Given the description of an element on the screen output the (x, y) to click on. 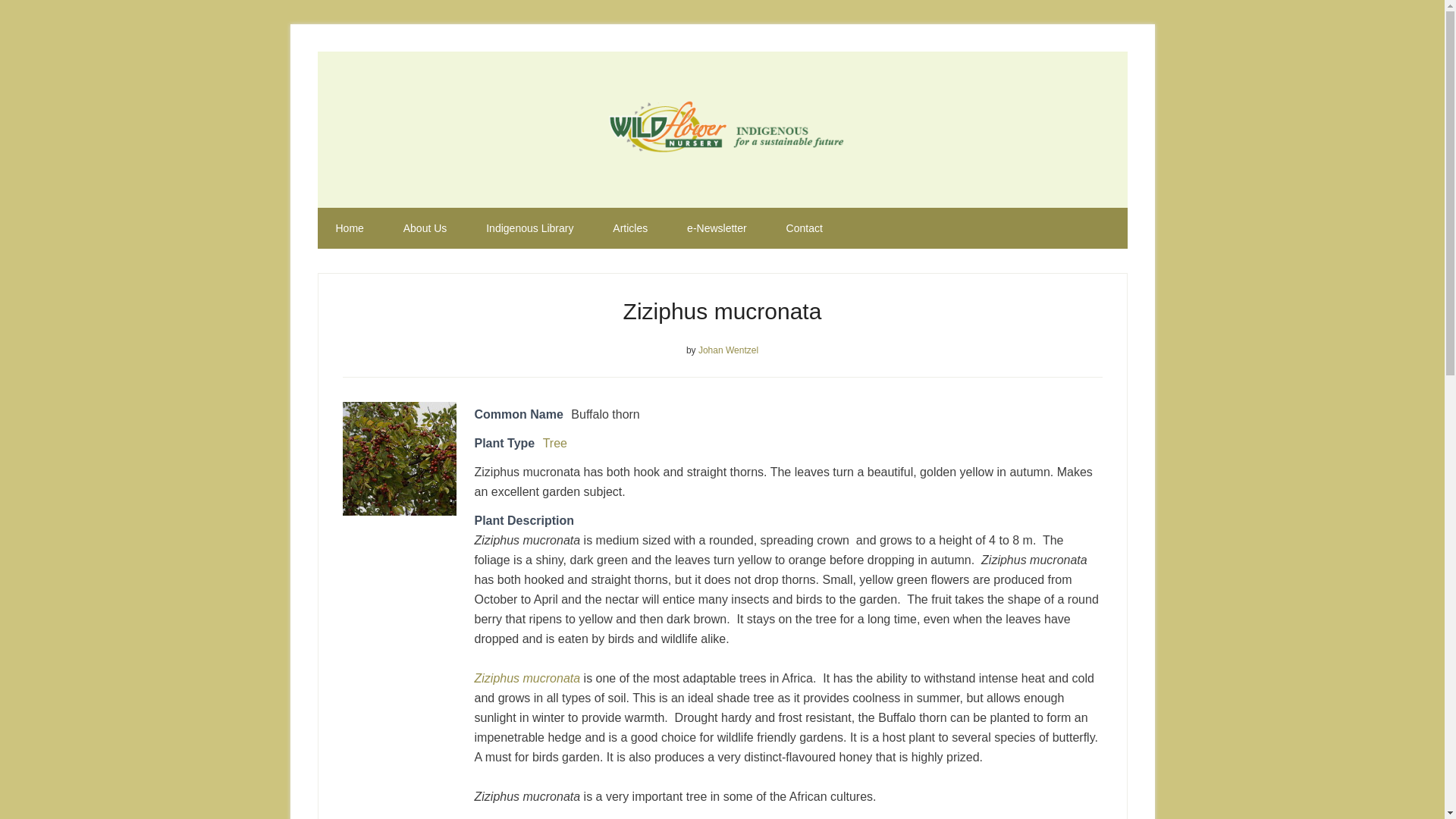
Ziziphus mucronata (527, 677)
Ziziphus mucronata (527, 677)
About Us (425, 228)
Ziziphus mucronata (399, 458)
Contact (804, 228)
Articles (629, 228)
Tree (555, 442)
Indigenous Library (529, 228)
e-Newsletter (716, 228)
Wildflower Nursery (721, 129)
